Given the description of an element on the screen output the (x, y) to click on. 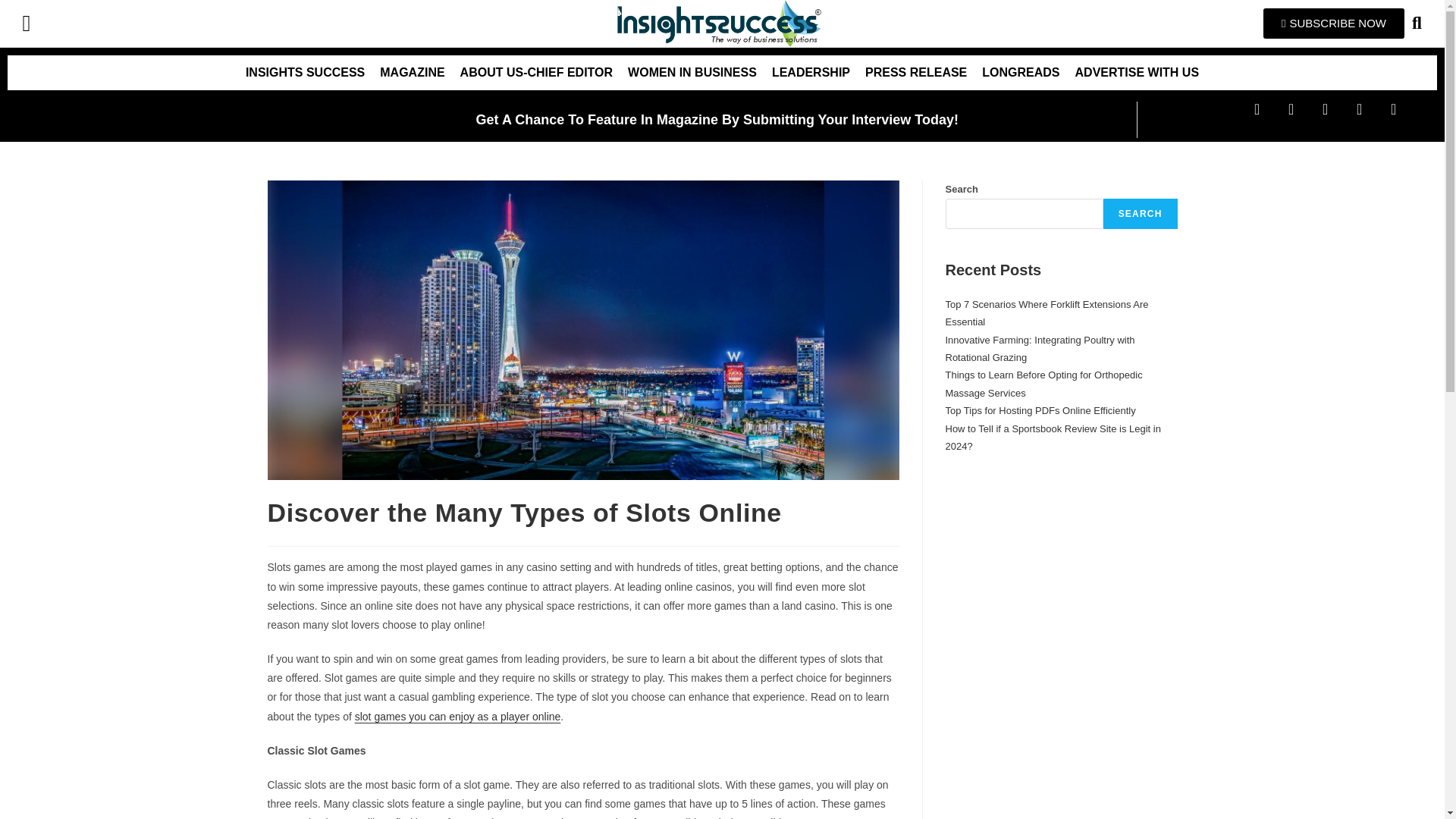
PRESS RELEASE (915, 72)
ABOUT US-CHIEF EDITOR (536, 72)
LEADERSHIP (810, 72)
Top 7 Scenarios Where Forklift Extensions Are Essential (1046, 312)
WOMEN IN BUSINESS (692, 72)
ADVERTISE WITH US (1137, 72)
LONGREADS (1020, 72)
